Given the description of an element on the screen output the (x, y) to click on. 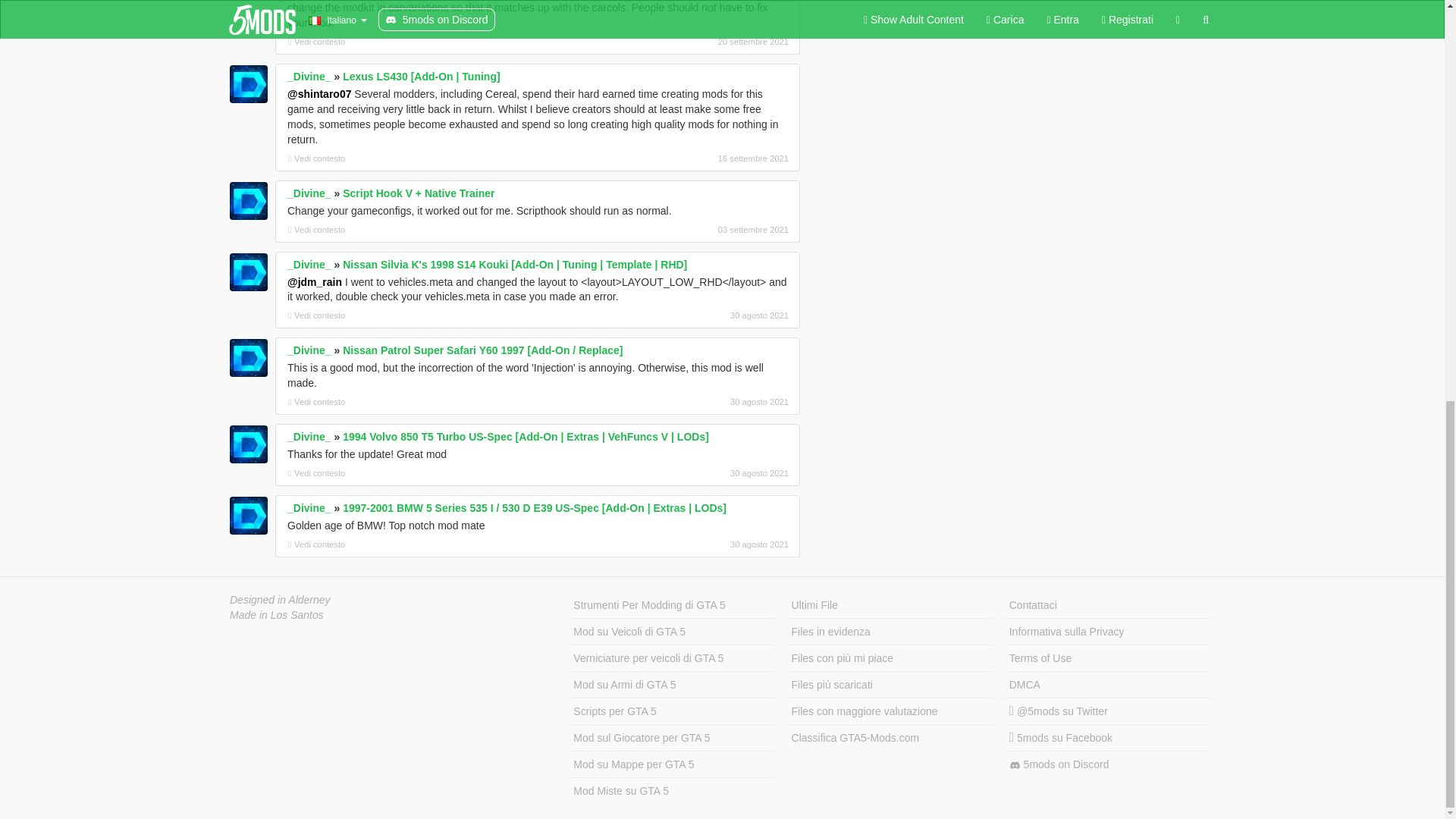
5mods on Discord (1106, 764)
5mods su Facebook (1106, 737)
